Given the description of an element on the screen output the (x, y) to click on. 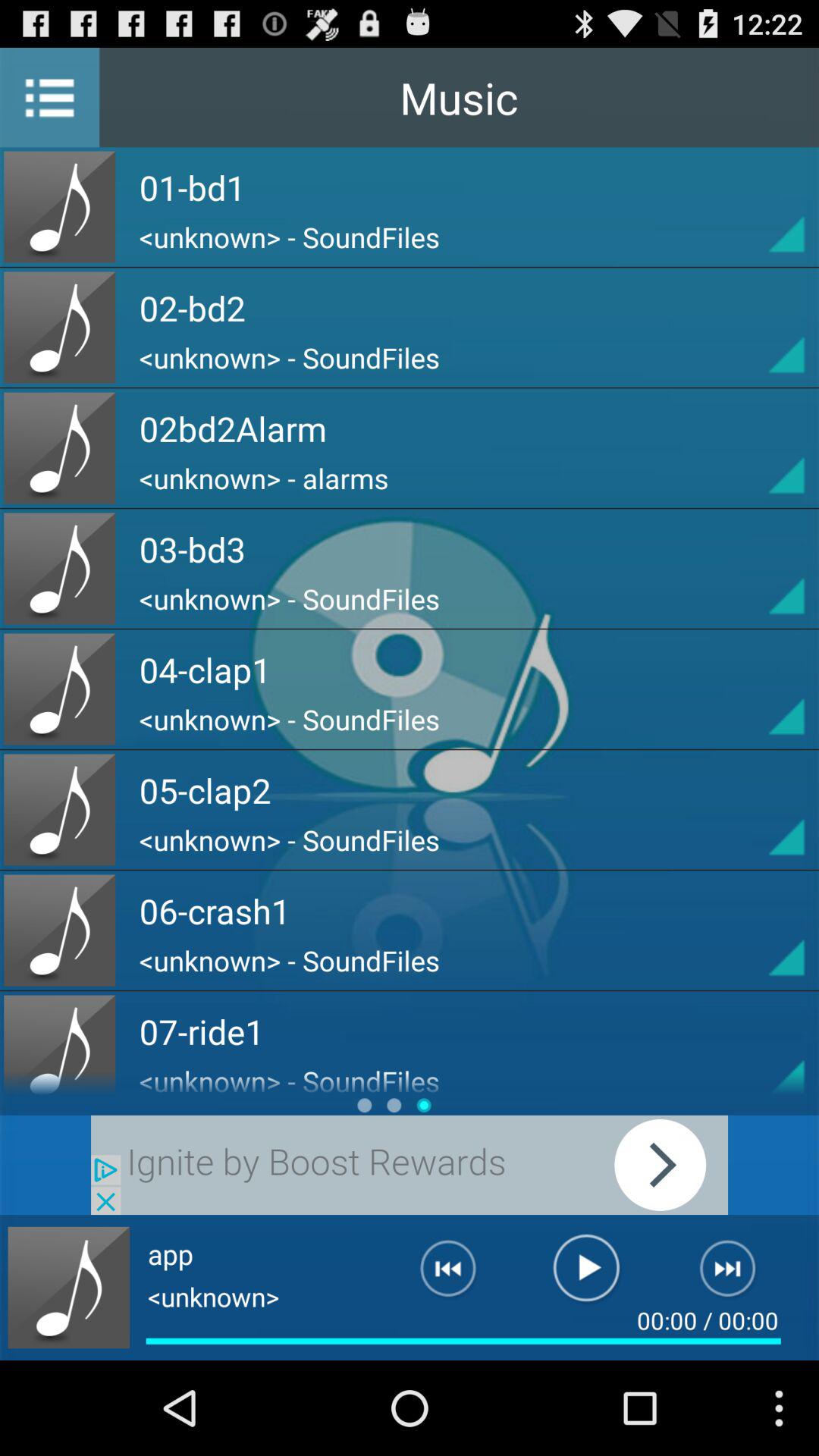
music (68, 1287)
